Given the description of an element on the screen output the (x, y) to click on. 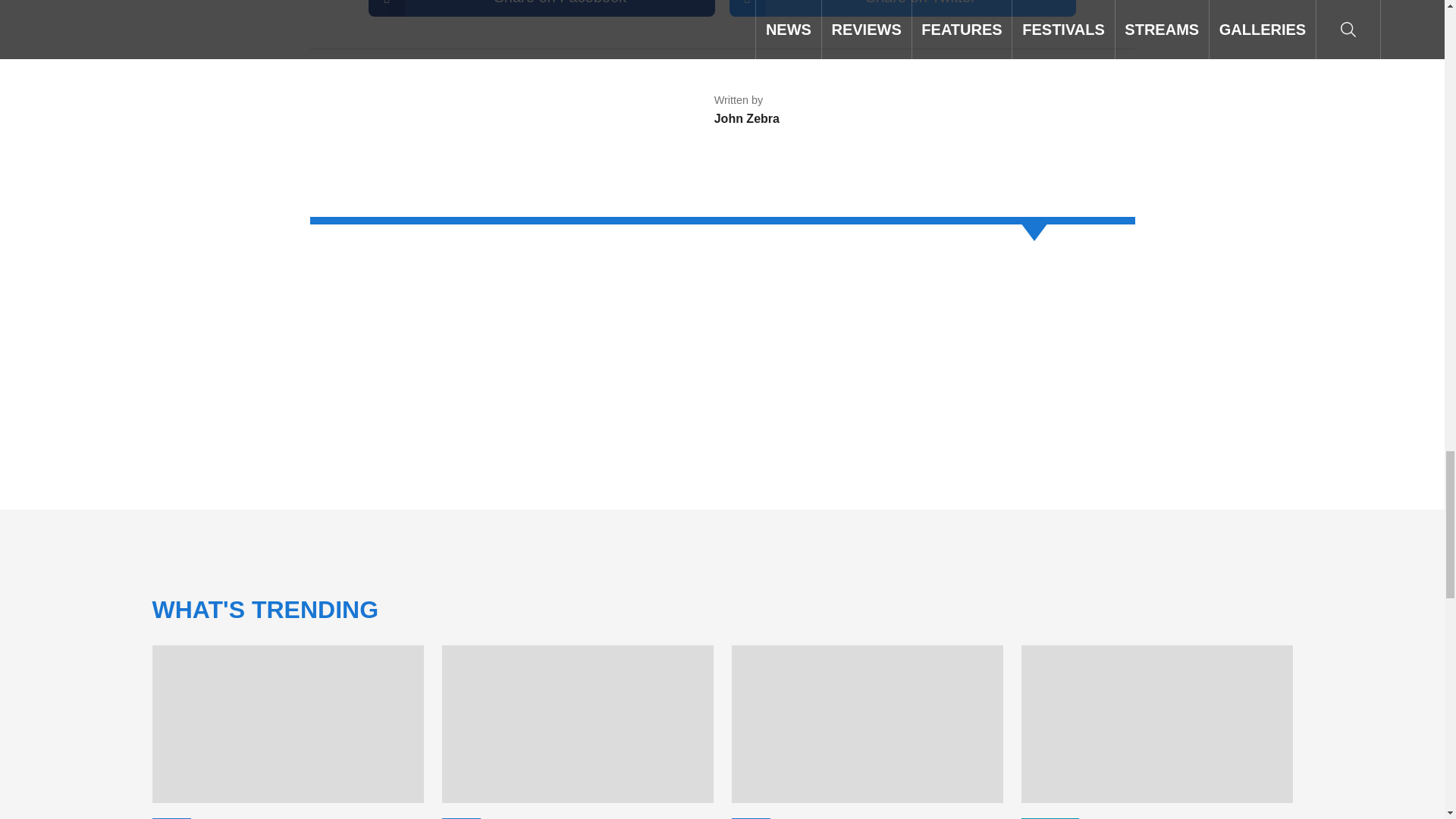
Share on Twitter (902, 8)
FEATURES (472, 818)
Share on Facebook (541, 8)
